Given the description of an element on the screen output the (x, y) to click on. 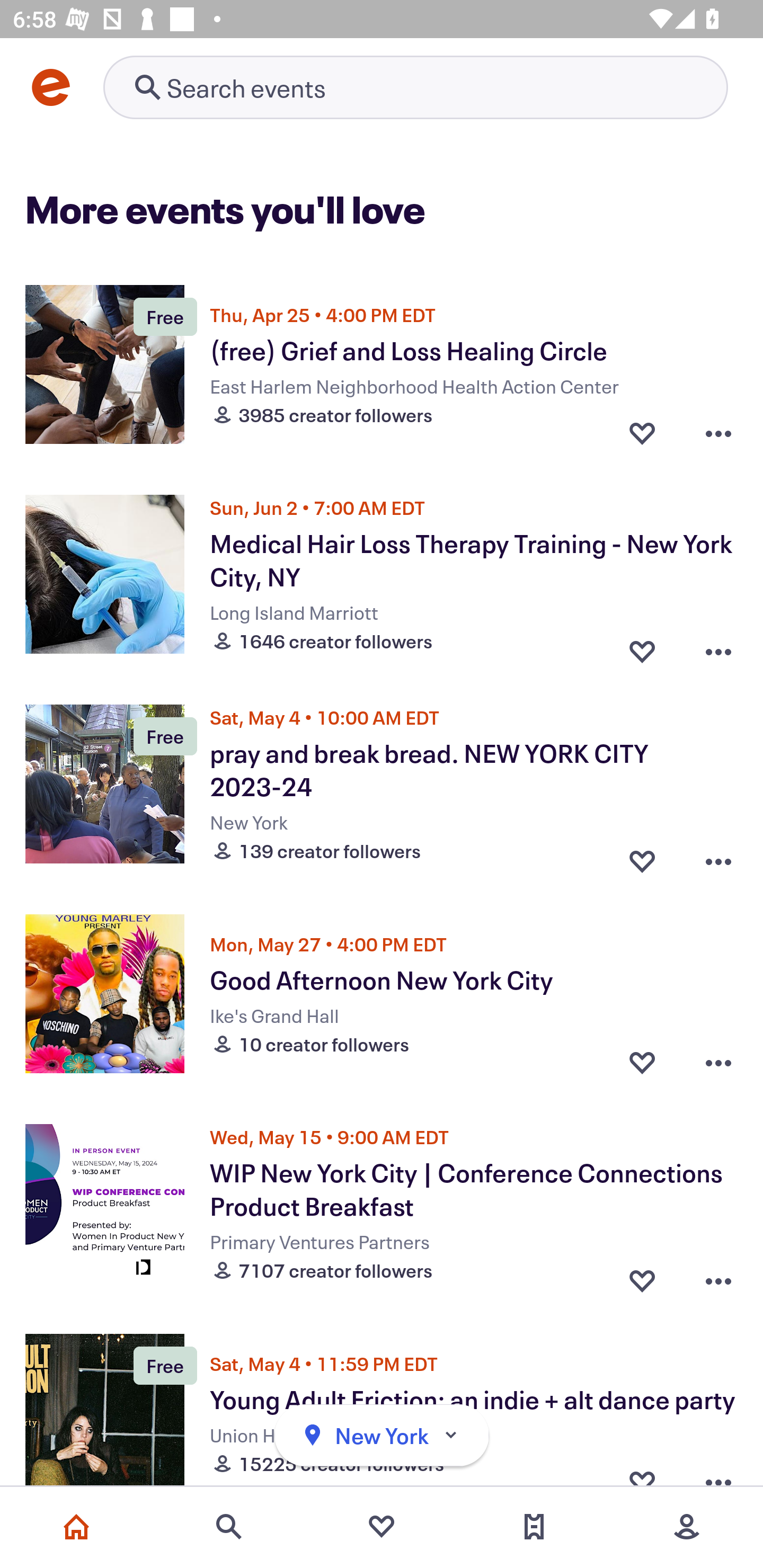
Retry's image Search events (415, 86)
Favorite button (642, 431)
Overflow menu button (718, 431)
Favorite button (642, 646)
Overflow menu button (718, 646)
Favorite button (642, 856)
Overflow menu button (718, 856)
Favorite button (642, 1062)
Overflow menu button (718, 1062)
Favorite button (642, 1275)
Overflow menu button (718, 1275)
New York (381, 1435)
Home (76, 1526)
Search events (228, 1526)
Favorites (381, 1526)
Tickets (533, 1526)
More (686, 1526)
